Given the description of an element on the screen output the (x, y) to click on. 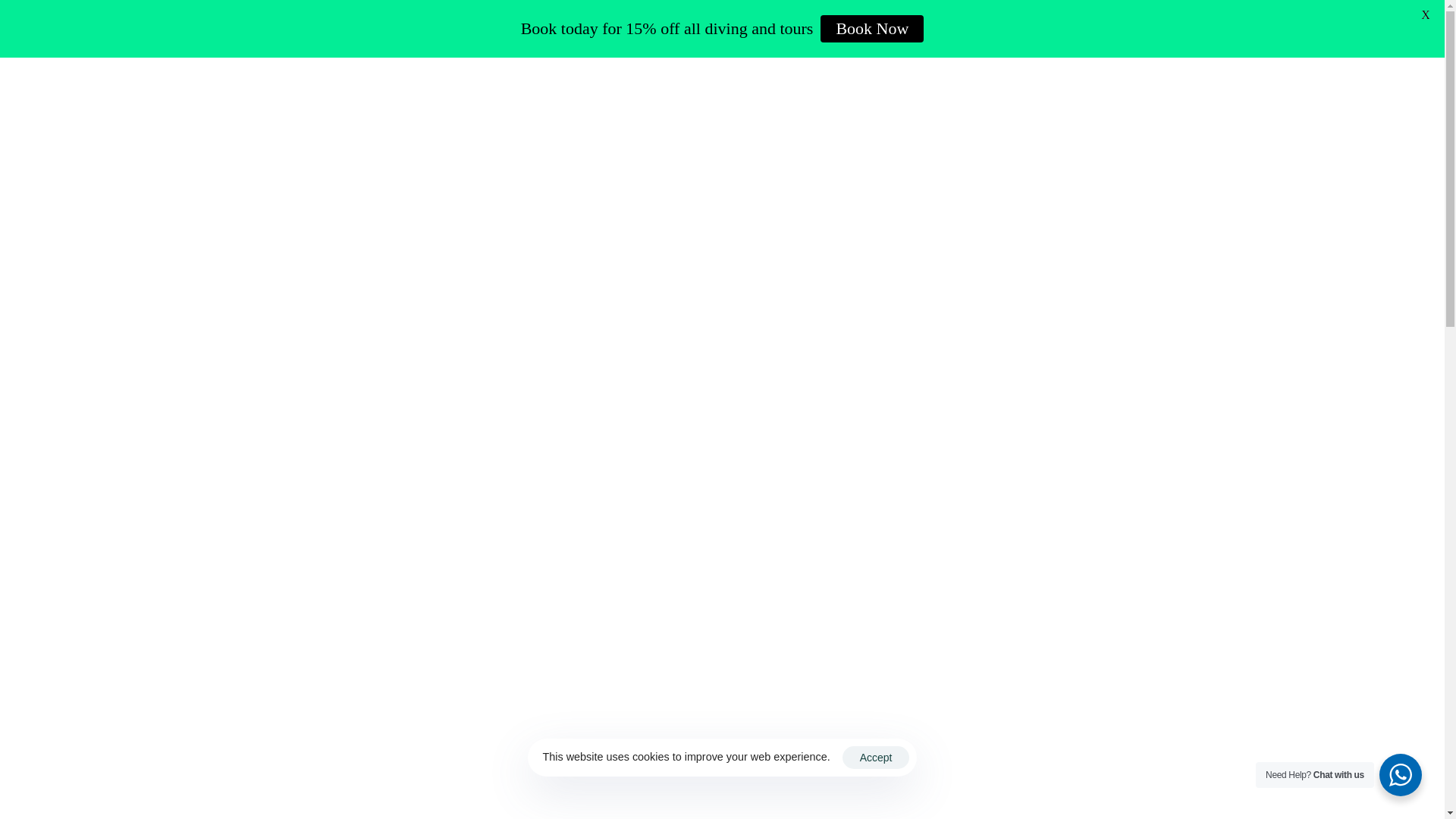
PADI Dive Center (560, 113)
Dolphin Watching (876, 113)
